Given the description of an element on the screen output the (x, y) to click on. 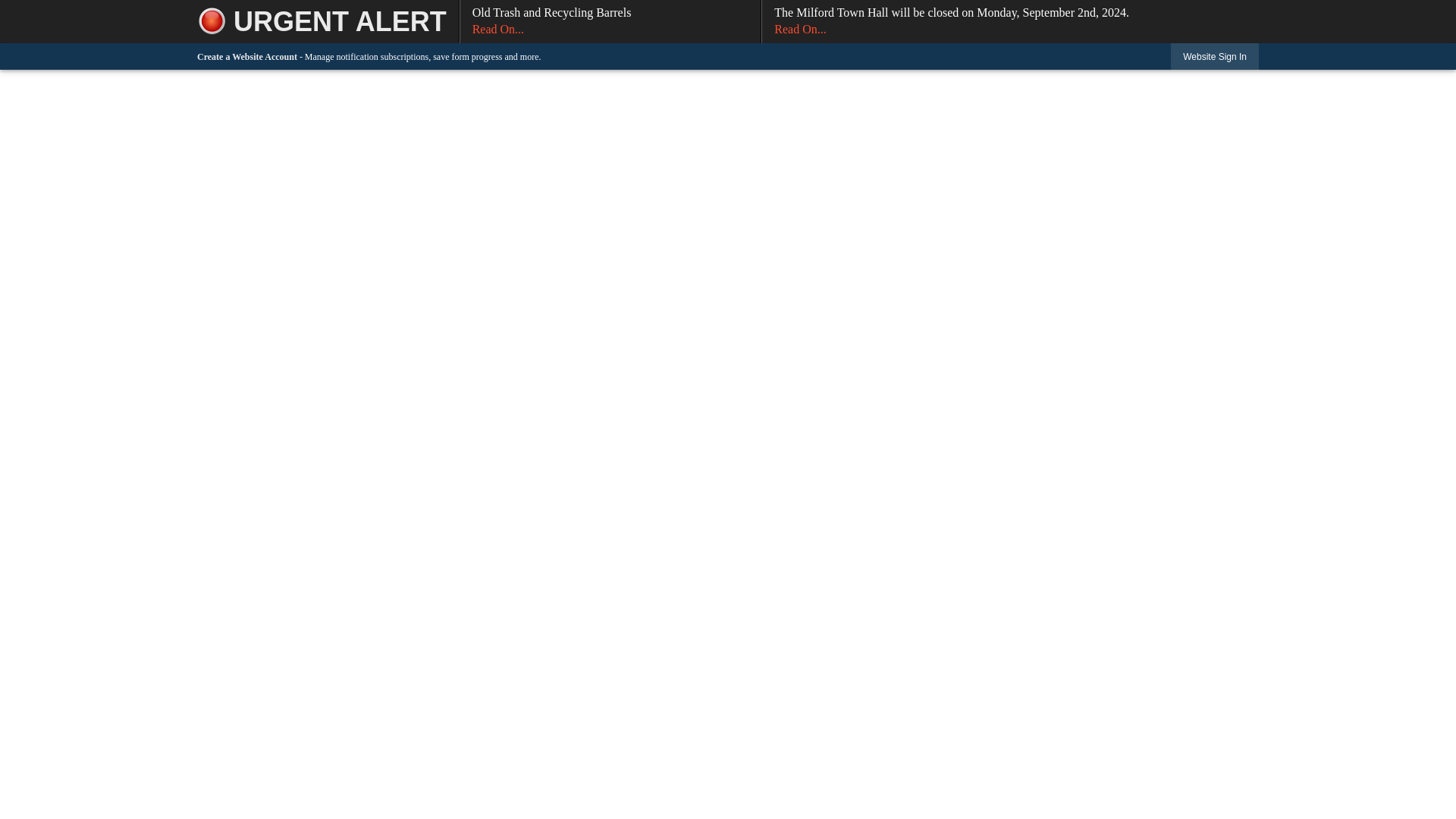
URGENT ALERT (328, 21)
Skip to Main Content (610, 21)
Search... (6, 6)
Website Sign In (1339, 34)
Create a Website Account (1214, 56)
